Given the description of an element on the screen output the (x, y) to click on. 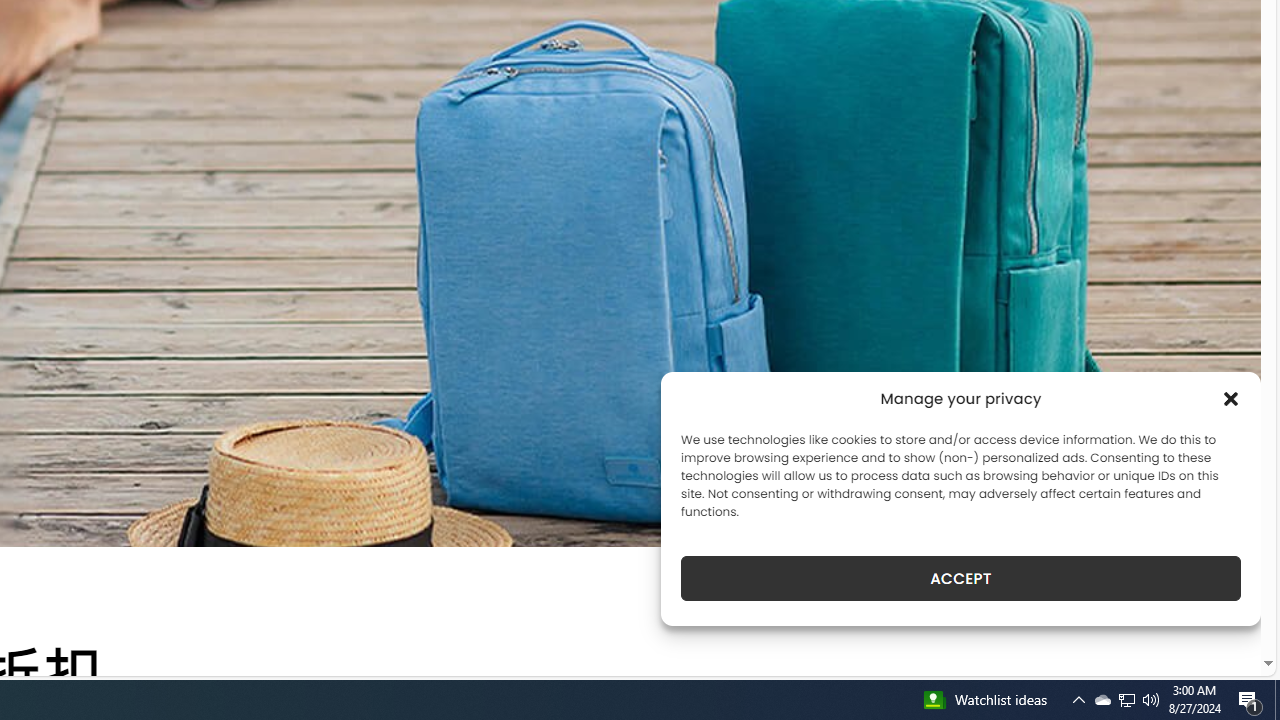
Class: cmplz-close (1231, 398)
ACCEPT (960, 578)
